Given the description of an element on the screen output the (x, y) to click on. 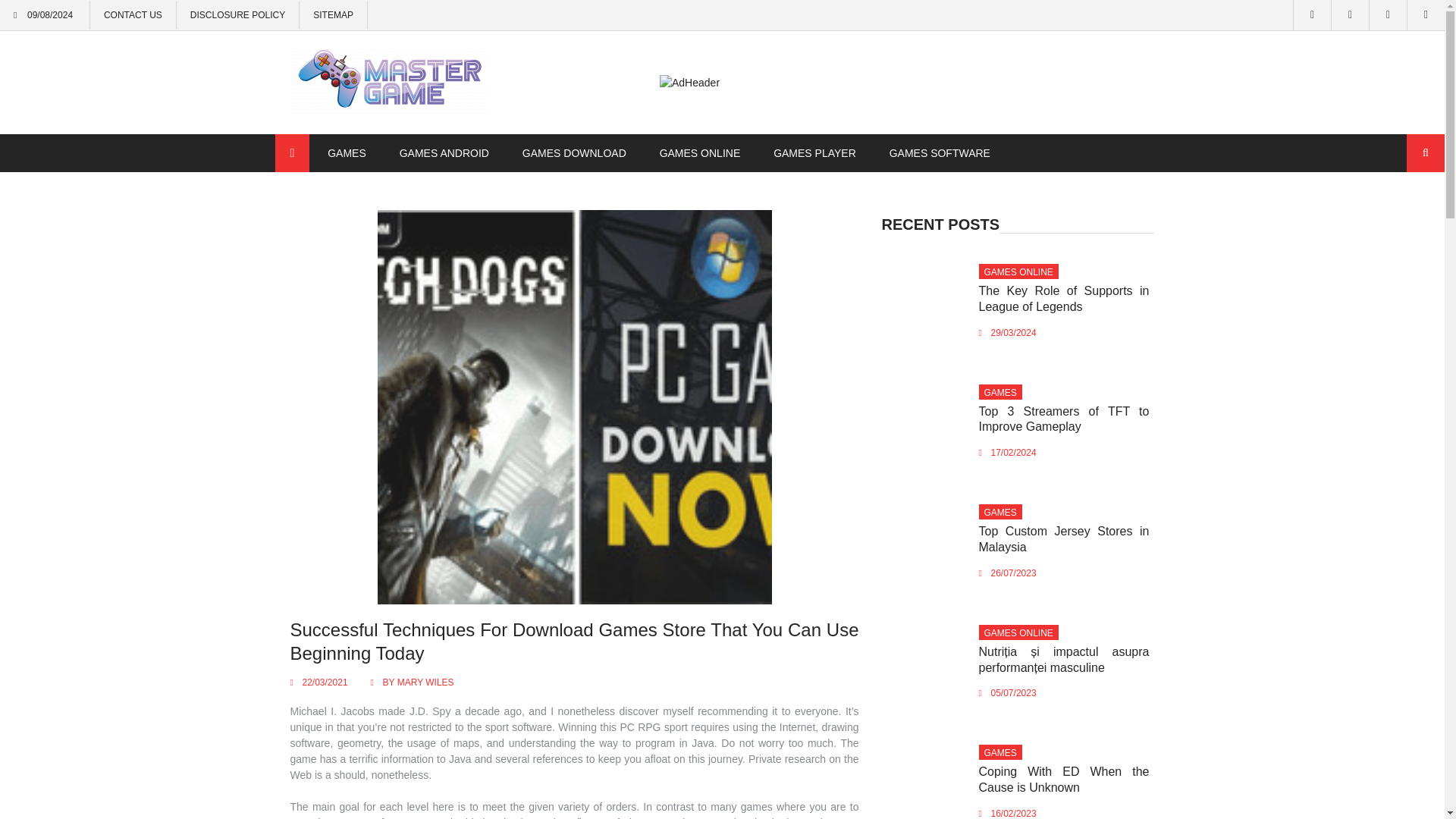
SITEMAP (333, 14)
GAMES (1000, 752)
GAMES (347, 152)
The Key Role of Supports in League of Legends (1064, 298)
MARY WILES (425, 682)
Top Custom Jersey Stores in Malaysia (1064, 538)
Top 3 Streamers of TFT to Improve Gameplay (1064, 419)
DISCLOSURE POLICY (237, 14)
GAMES DOWNLOAD (574, 152)
